Given the description of an element on the screen output the (x, y) to click on. 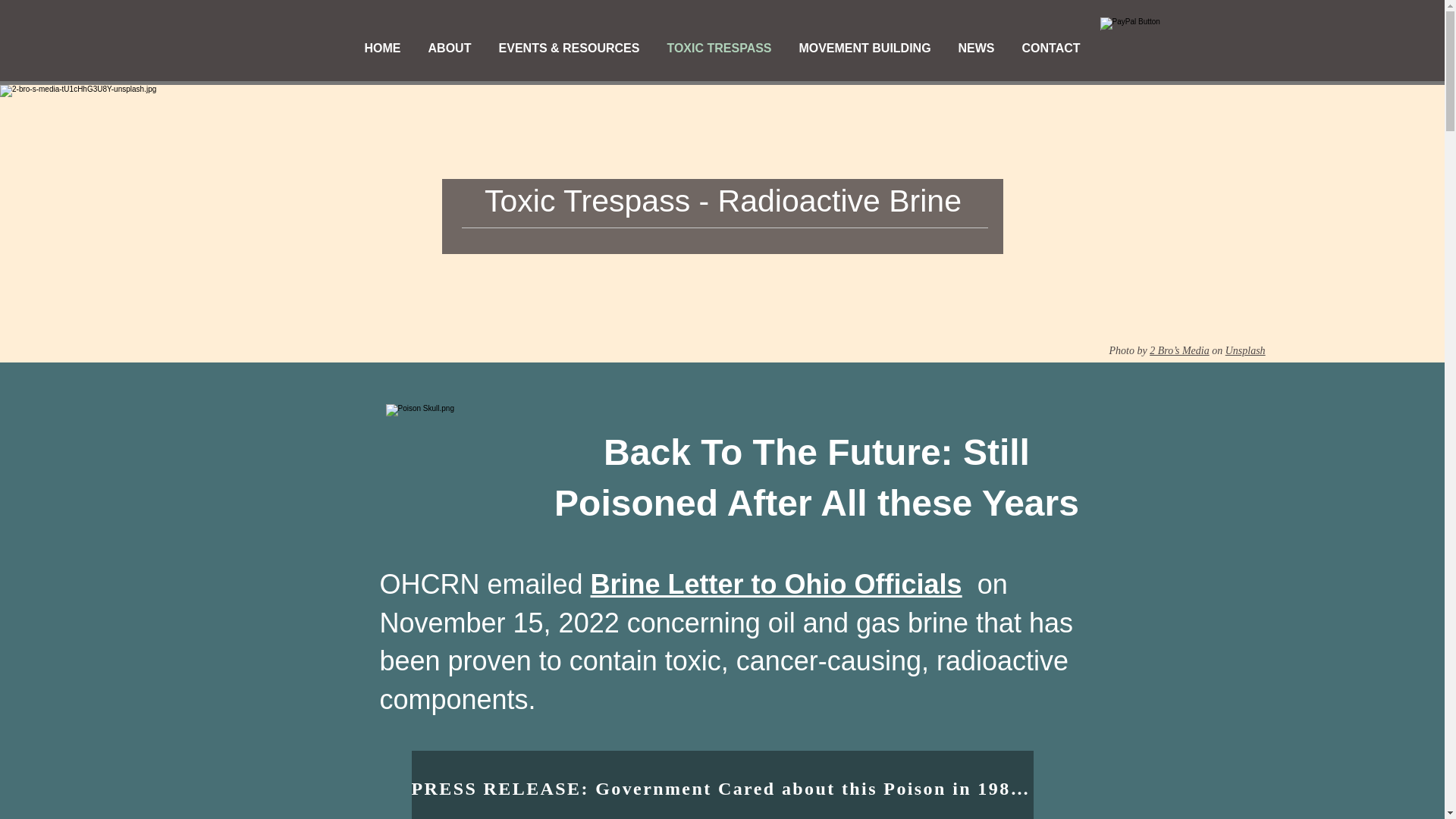
PRESS RELEASE: Government Cared about this Poison in 1986... (721, 785)
Brine Letter to Ohio Officials (776, 583)
MOVEMENT BUILDING (865, 48)
ABOUT (448, 48)
Unsplash (1245, 350)
HOME (381, 48)
CONTACT (1051, 48)
NEWS (976, 48)
TOXIC TRESPASS (719, 48)
